Given the description of an element on the screen output the (x, y) to click on. 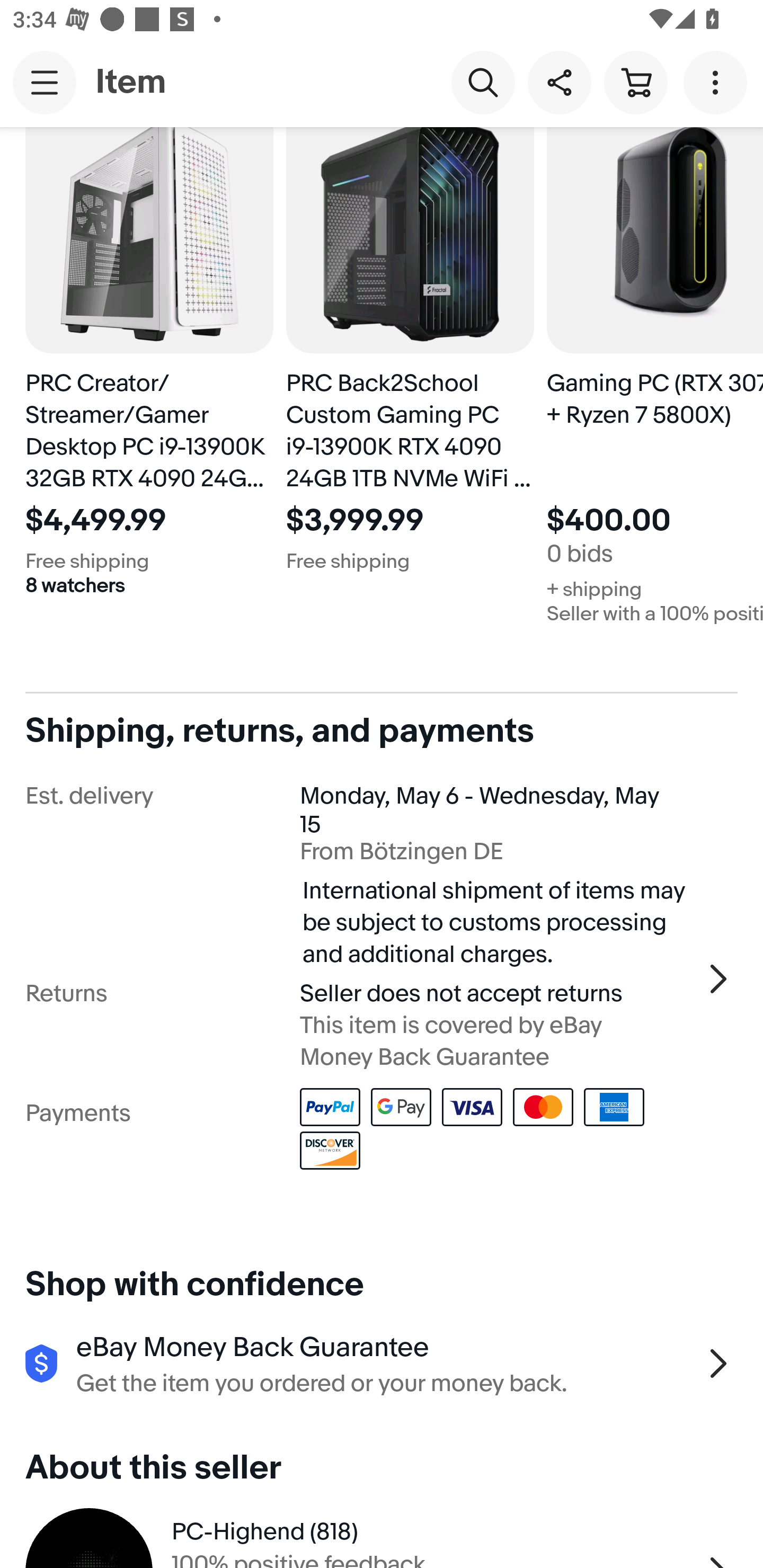
Main navigation, open (44, 82)
Search (482, 81)
Share this item (559, 81)
Cart button shopping cart (635, 81)
More options (718, 81)
